Given the description of an element on the screen output the (x, y) to click on. 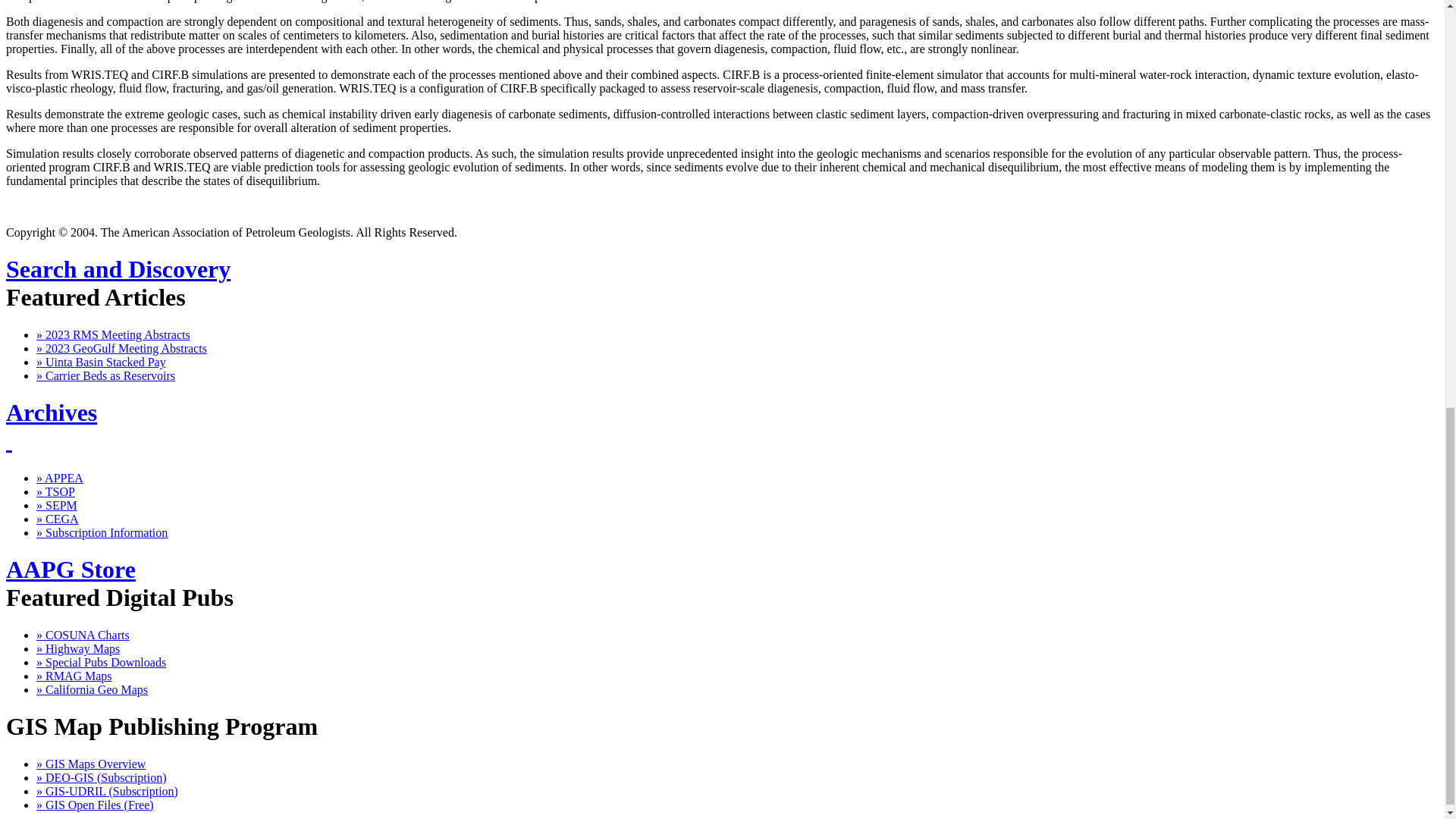
Search and Discovery (117, 268)
